Given the description of an element on the screen output the (x, y) to click on. 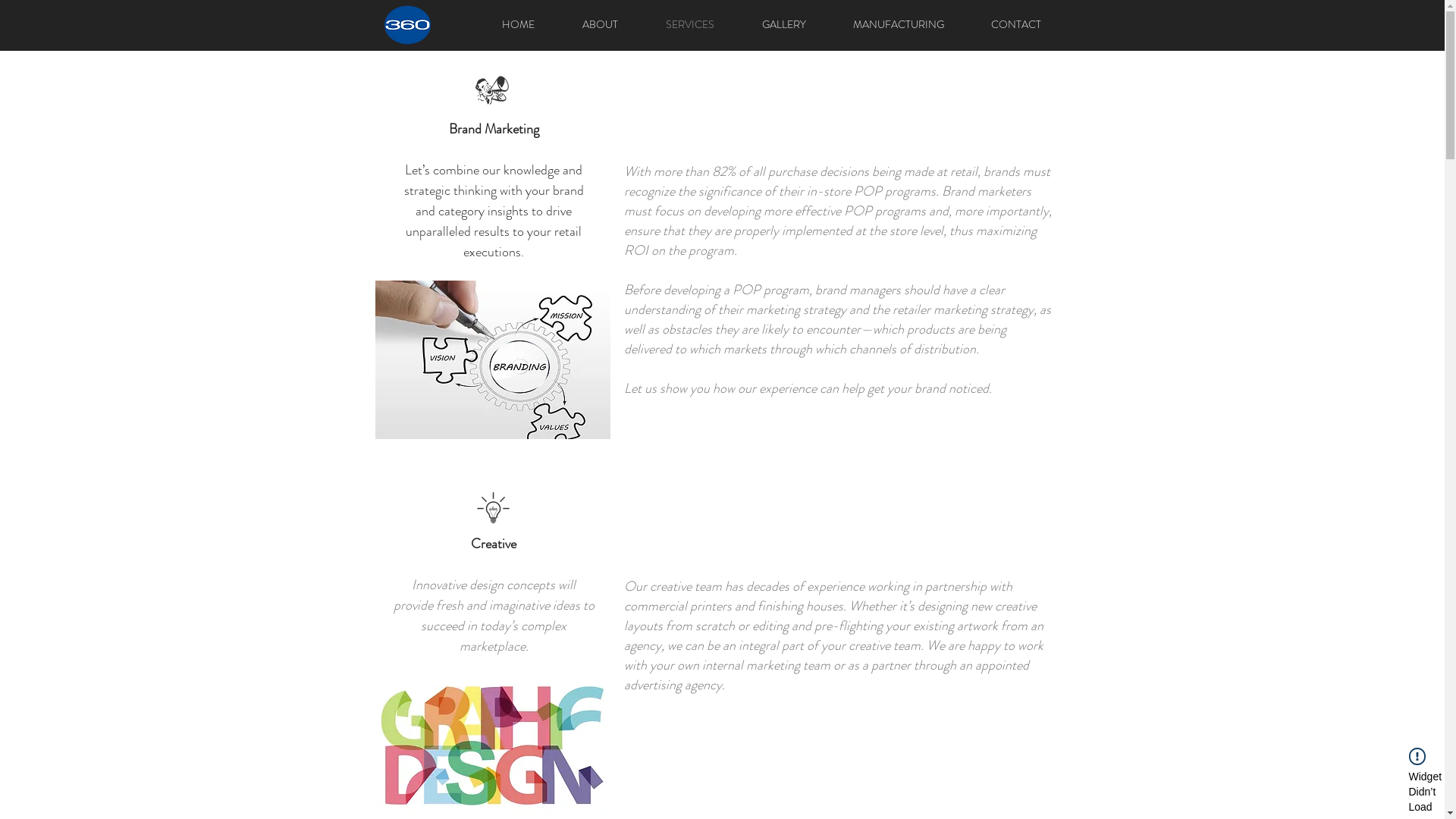
SERVICES Element type: text (689, 24)
CONTACT Element type: text (1015, 24)
ABOUT Element type: text (599, 24)
MANUFACTURING Element type: text (898, 24)
GALLERY Element type: text (783, 24)
HOME Element type: text (517, 24)
